Given the description of an element on the screen output the (x, y) to click on. 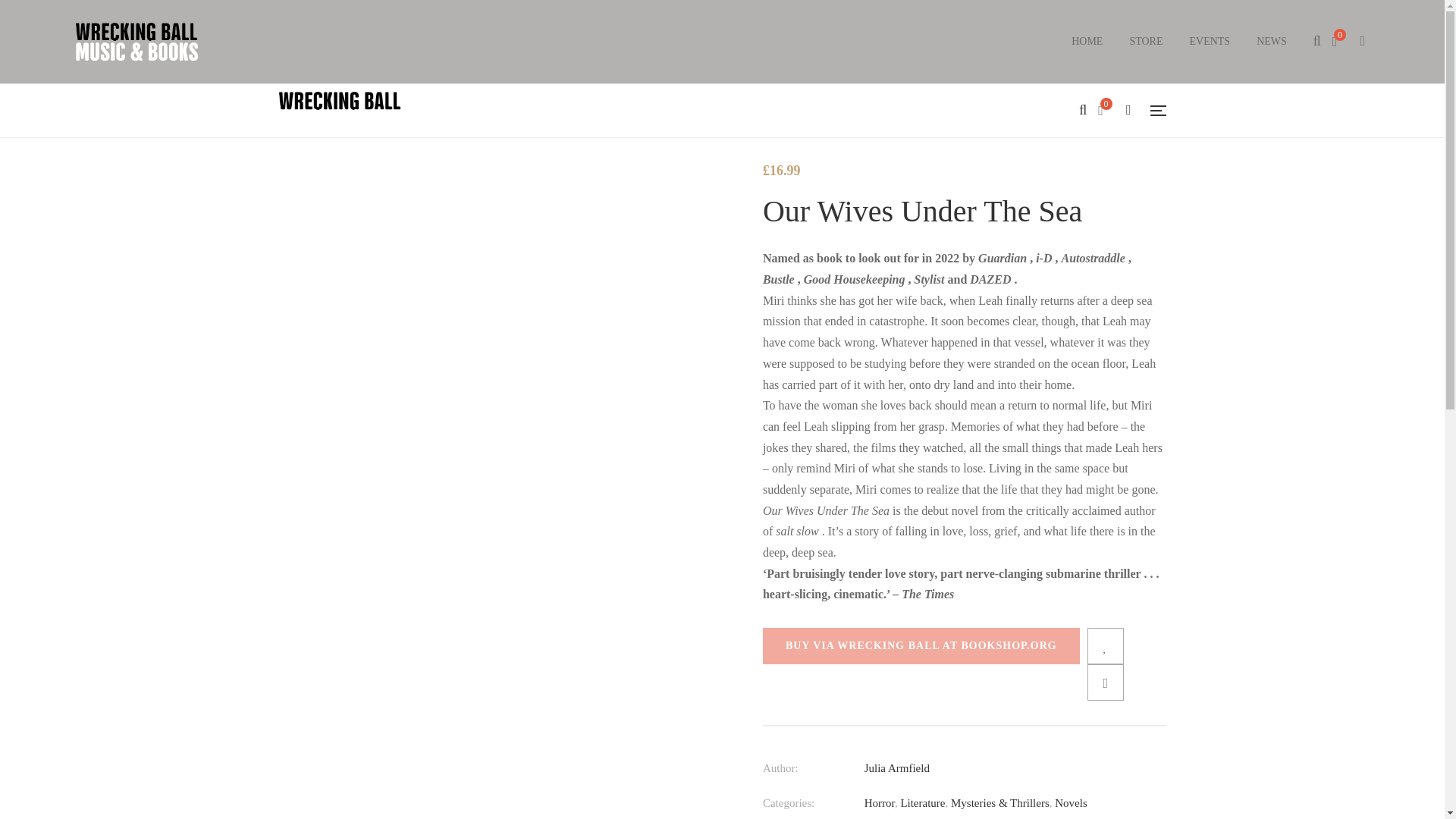
Literature (921, 802)
BUY VIA WRECKING BALL AT BOOKSHOP.ORG (921, 646)
Compare (1105, 682)
Wrecking Ball Store-Wrecking Ball Store (340, 110)
Wrecking Ball Store-Wrecking Ball Store (136, 41)
Horror (879, 802)
STORE (1145, 41)
HOME (1086, 41)
0 (1106, 110)
Julia Armfield (897, 767)
